Given the description of an element on the screen output the (x, y) to click on. 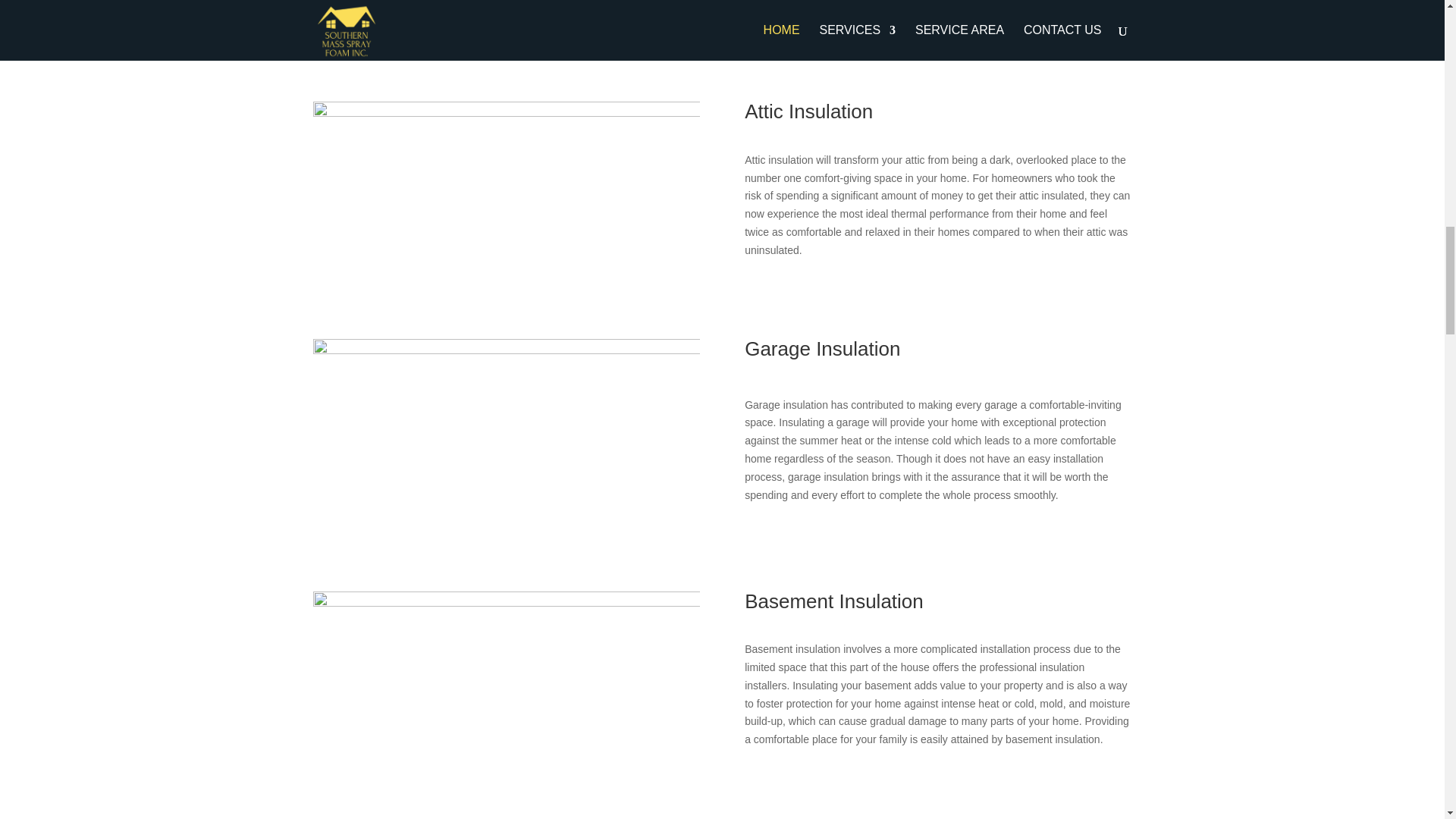
Spray Foam Insulation Brockton MA (505, 30)
Spray Foam Fall River (505, 199)
Spray Foam Sommerville MA (505, 696)
Spray Foam Boston MA (505, 444)
